Given the description of an element on the screen output the (x, y) to click on. 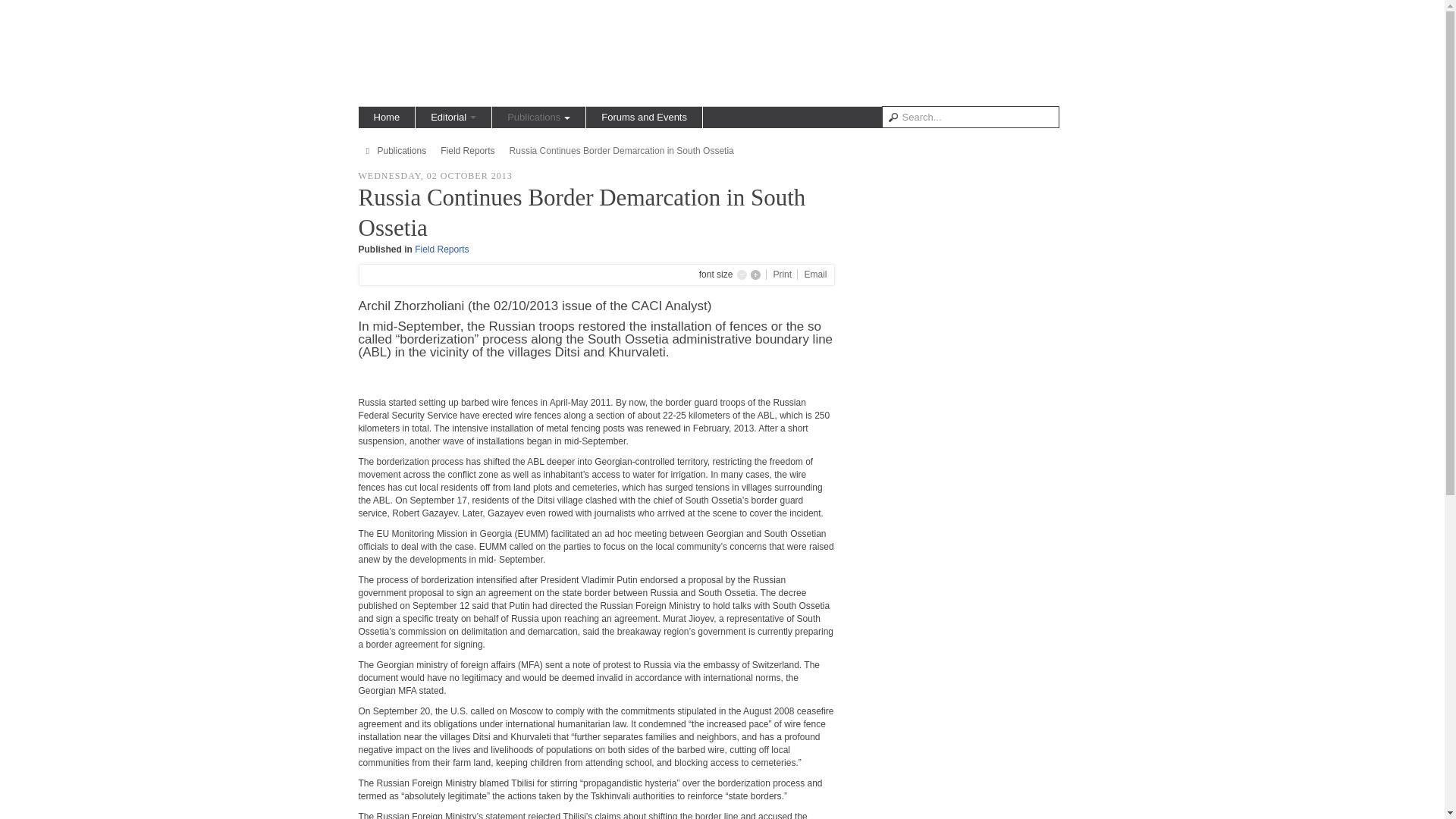
Publications (538, 117)
Publications (401, 150)
Field Reports (468, 150)
Print (783, 274)
Home (386, 117)
Email (815, 274)
Forums and Events (643, 117)
Editorial (453, 117)
Field Reports (441, 249)
